Given the description of an element on the screen output the (x, y) to click on. 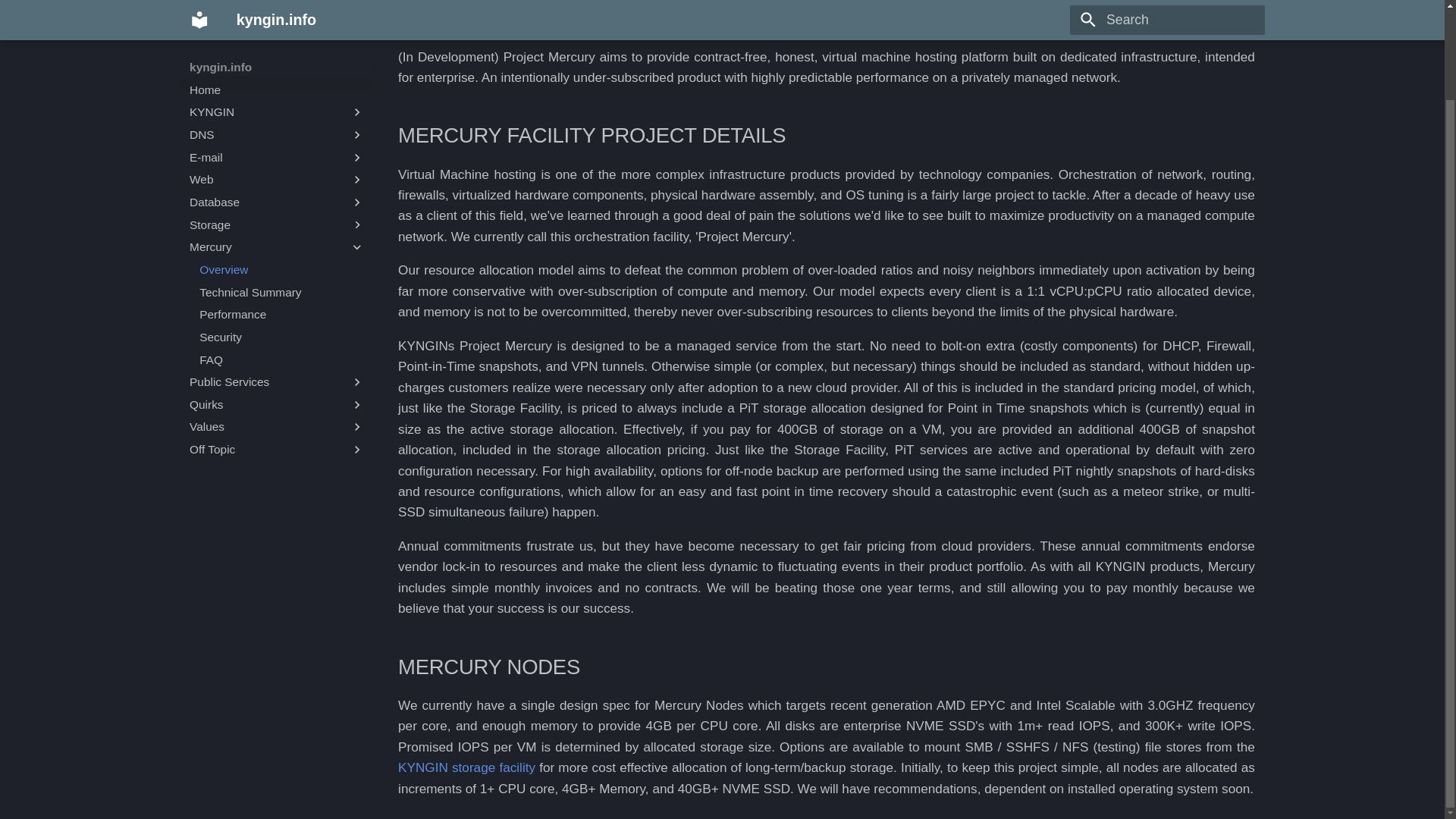
Home (277, 11)
